Given the description of an element on the screen output the (x, y) to click on. 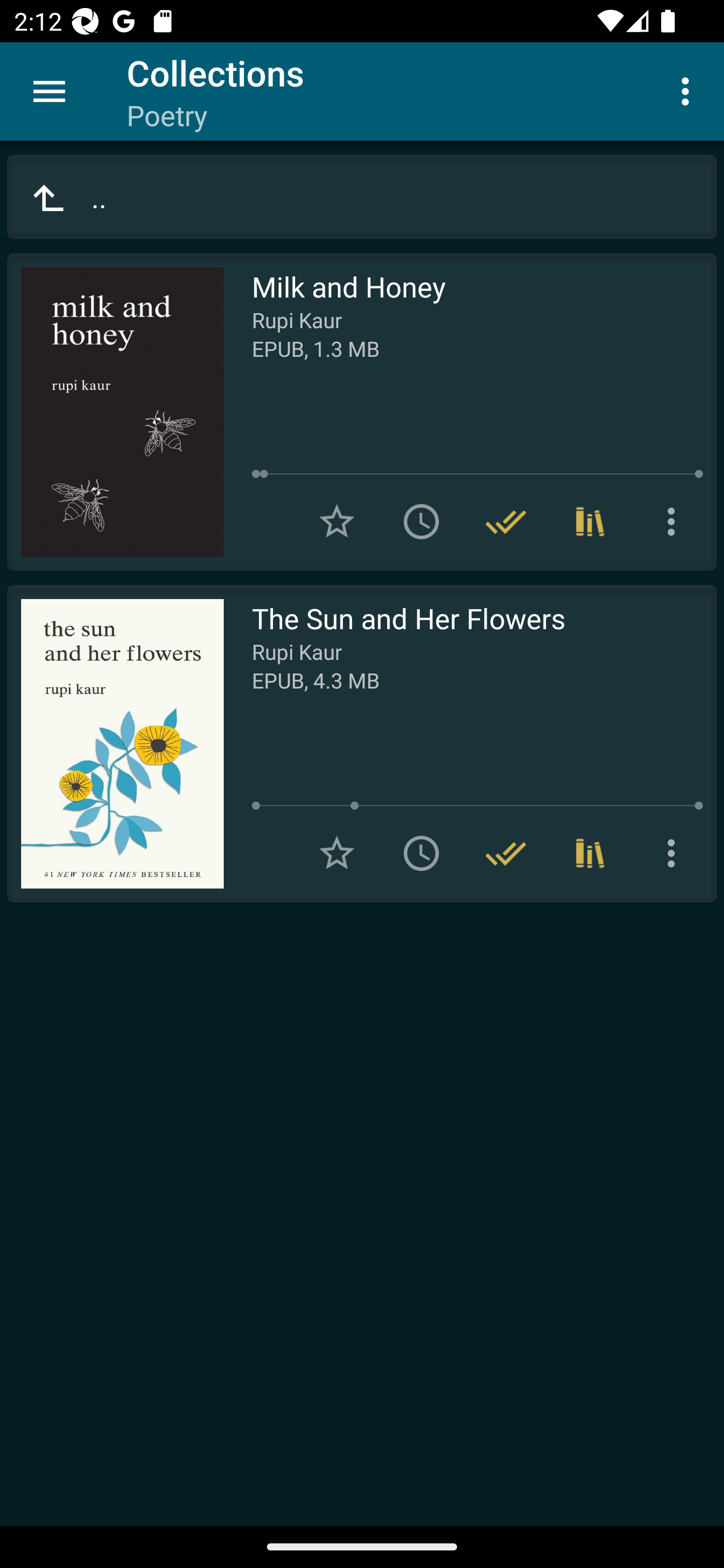
Menu (49, 91)
More options (688, 90)
.. (361, 197)
Read Milk and Honey (115, 412)
Add to Favorites (336, 521)
Add to To read (421, 521)
Remove from Have read (505, 521)
Collections (3) (590, 521)
More options (674, 521)
Read The Sun and Her Flowers (115, 743)
Add to Favorites (336, 852)
Add to To read (421, 852)
Remove from Have read (505, 852)
Collections (1) (590, 852)
More options (674, 852)
